Given the description of an element on the screen output the (x, y) to click on. 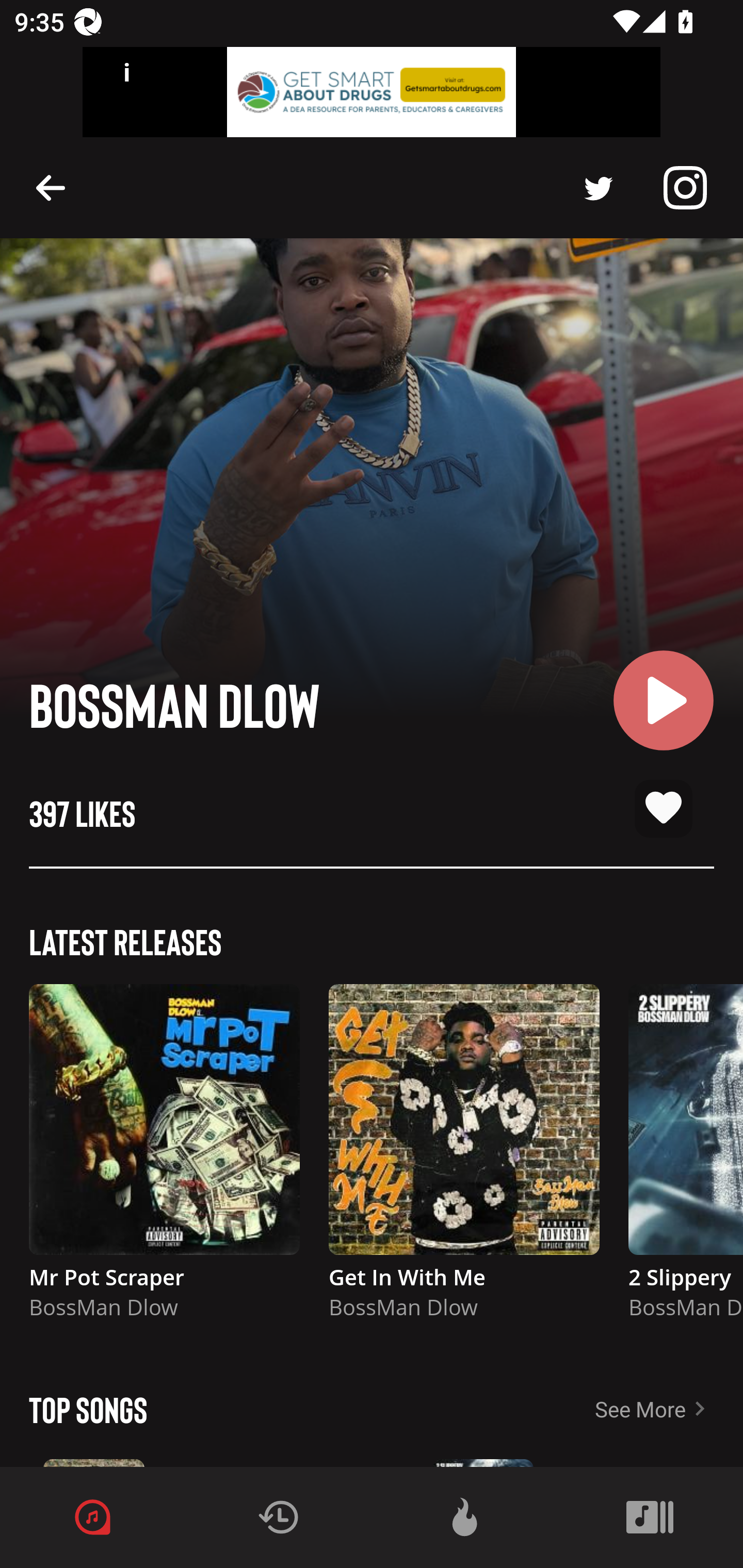
Description (50, 187)
Description (598, 188)
Description (684, 188)
Description Mr Pot Scraper BossMan Dlow (164, 1159)
Description Get In With Me BossMan Dlow (463, 1159)
See More (668, 1408)
